Given the description of an element on the screen output the (x, y) to click on. 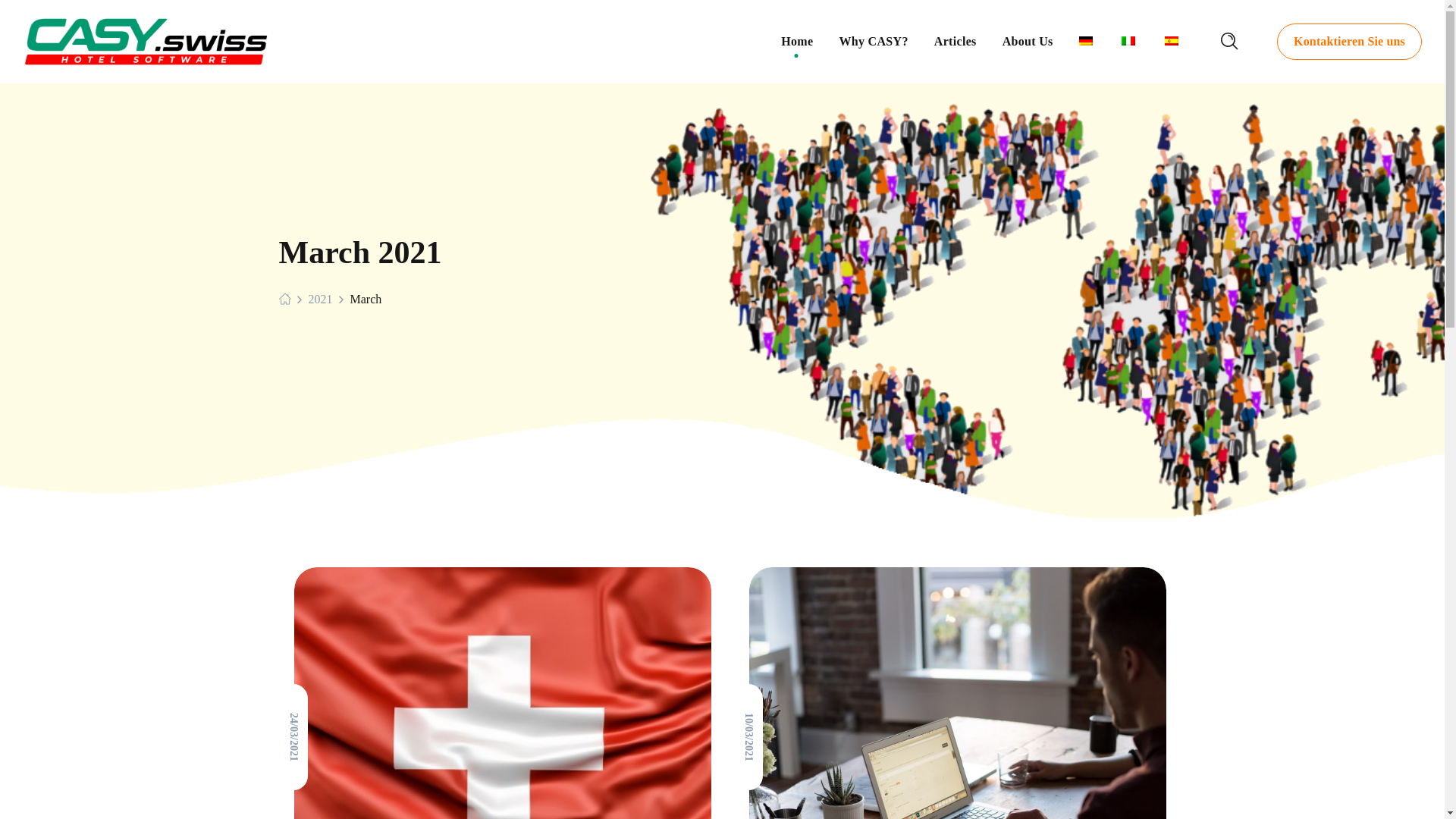
Articles Element type: text (955, 41)
Why CASY? Element type: text (872, 41)
Search Element type: text (1176, 130)
Search Element type: text (1176, 46)
Kontaktieren Sie uns Element type: text (1349, 41)
Home Element type: text (796, 41)
2021 Element type: text (319, 298)
About Us Element type: text (1027, 41)
